Given the description of an element on the screen output the (x, y) to click on. 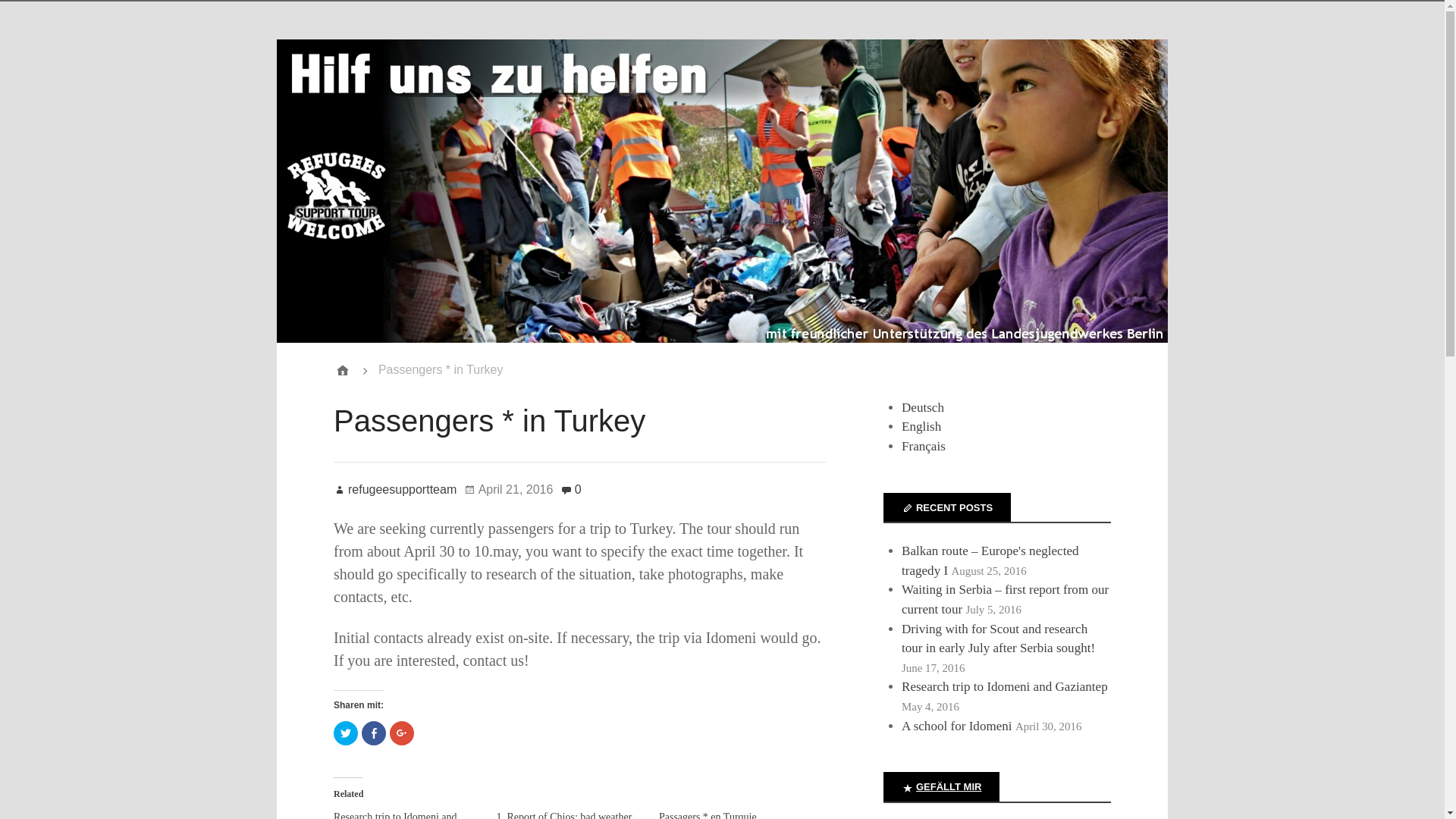
Research trip to Idomeni and Gaziantep (1004, 686)
A school for Idomeni (956, 726)
Deutsch (922, 407)
1. Report of Chios: bad weather, and baseline work (564, 815)
Click to share on Twitter (345, 733)
0 (570, 489)
English (920, 426)
Posts by refugeesupportteam (395, 489)
Refugee Support Tour (342, 370)
refugeesupportteam (395, 489)
Research trip to Idomeni and Gaziantep (395, 815)
Thursday, April 21, 2016, 9:07 am (508, 489)
Share on Facebook (373, 733)
